Given the description of an element on the screen output the (x, y) to click on. 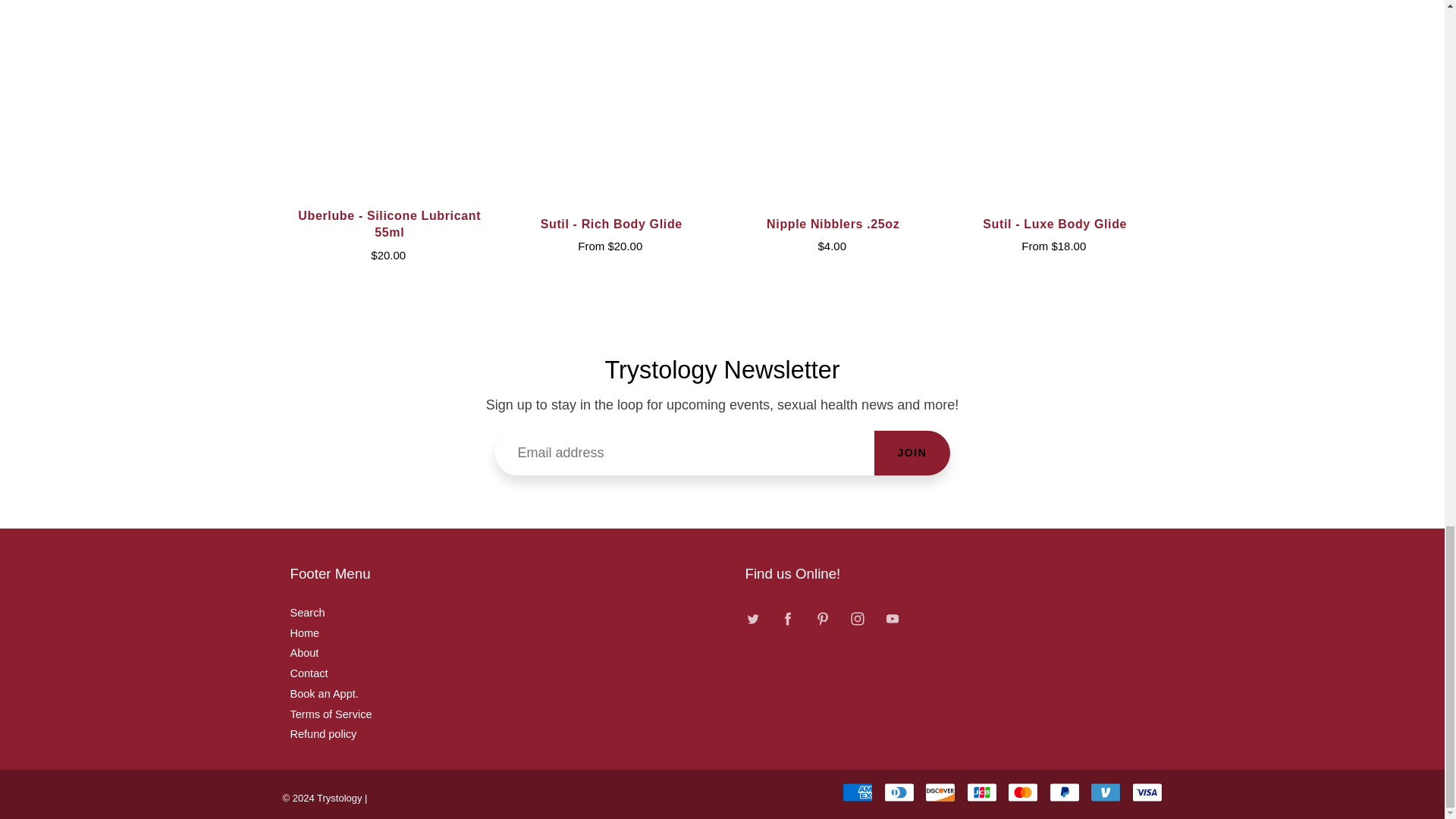
Venmo (1105, 792)
American Express (857, 792)
JCB (981, 792)
Twitter (753, 618)
PayPal (1064, 792)
Facebook (788, 618)
Pinterest (822, 618)
Diners Club (898, 792)
Discover (939, 792)
Mastercard (1022, 792)
Visa (1146, 792)
